Given the description of an element on the screen output the (x, y) to click on. 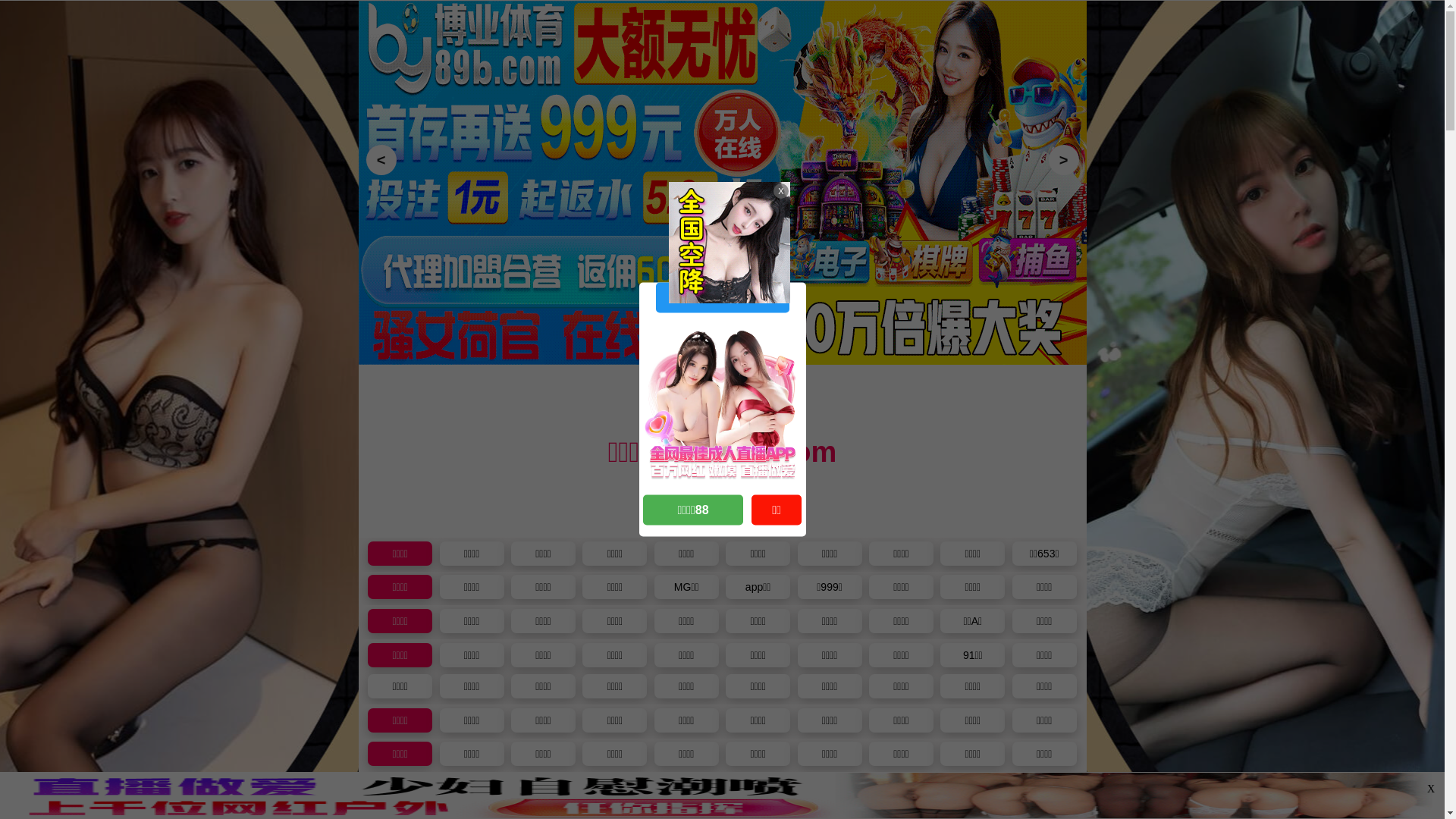
X Element type: text (1430, 789)
973uuu.com Element type: text (721, 297)
< Element type: text (380, 159)
> Element type: text (1063, 159)
